Given the description of an element on the screen output the (x, y) to click on. 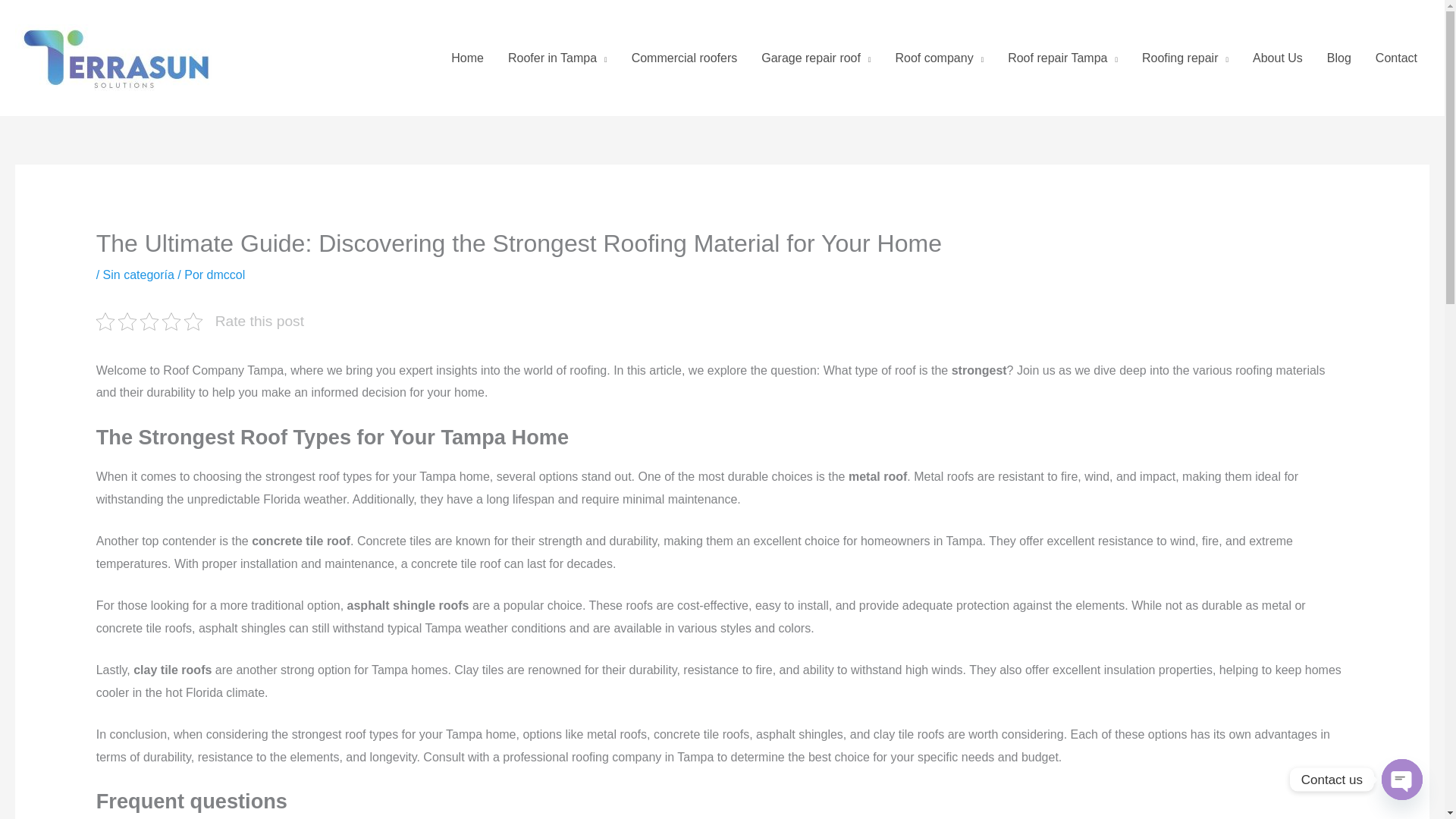
Blog (1338, 58)
About Us (1277, 58)
Garage repair roof (815, 58)
Roof repair Tampa (1062, 58)
Roof company (938, 58)
Ver todas las entradas de dmccol (226, 274)
Commercial roofers (684, 58)
Home (467, 58)
Roofing repair (1184, 58)
Contact (1395, 58)
Roofer in Tampa (558, 58)
